Given the description of an element on the screen output the (x, y) to click on. 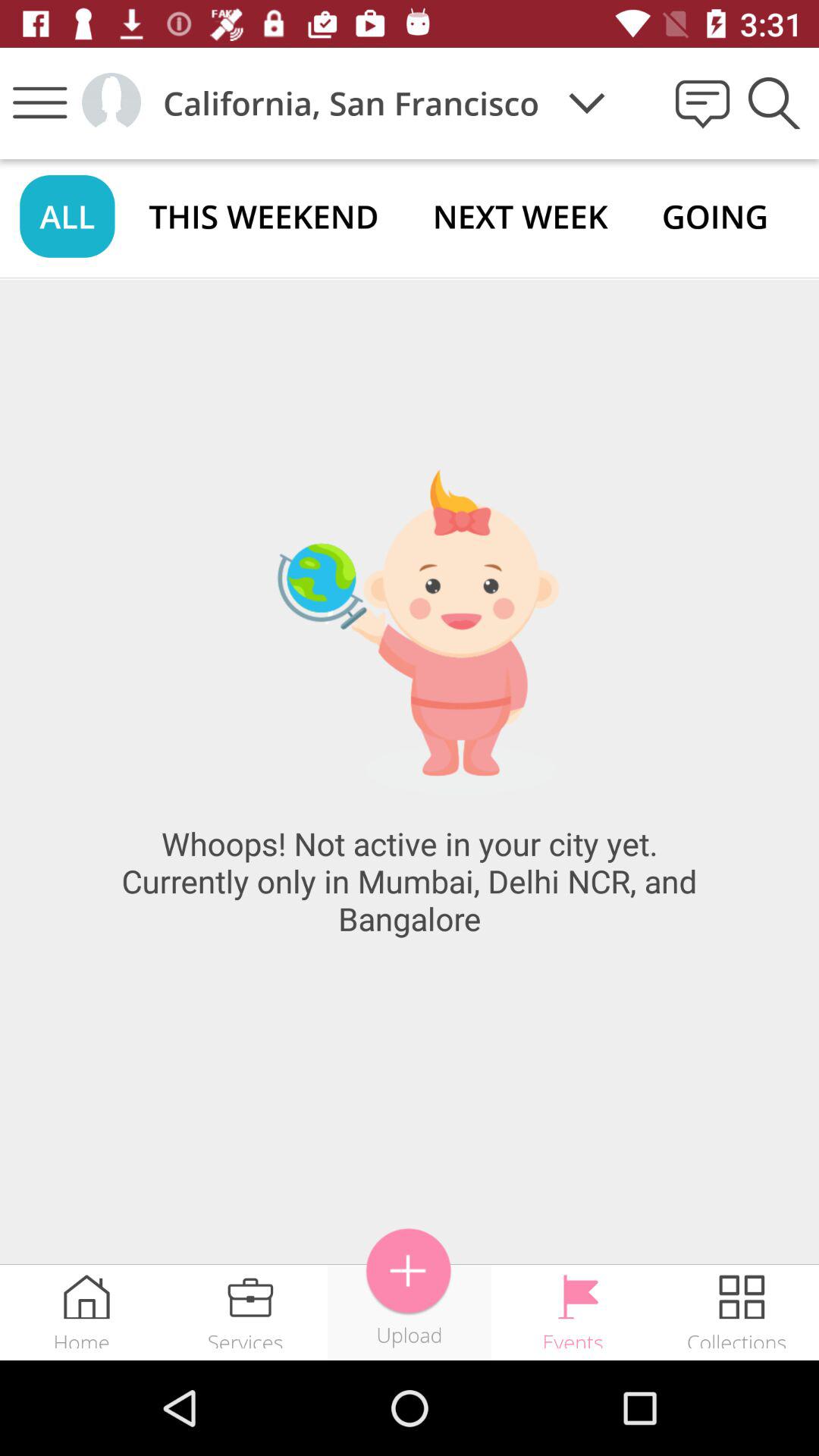
your profile picture (111, 102)
